Given the description of an element on the screen output the (x, y) to click on. 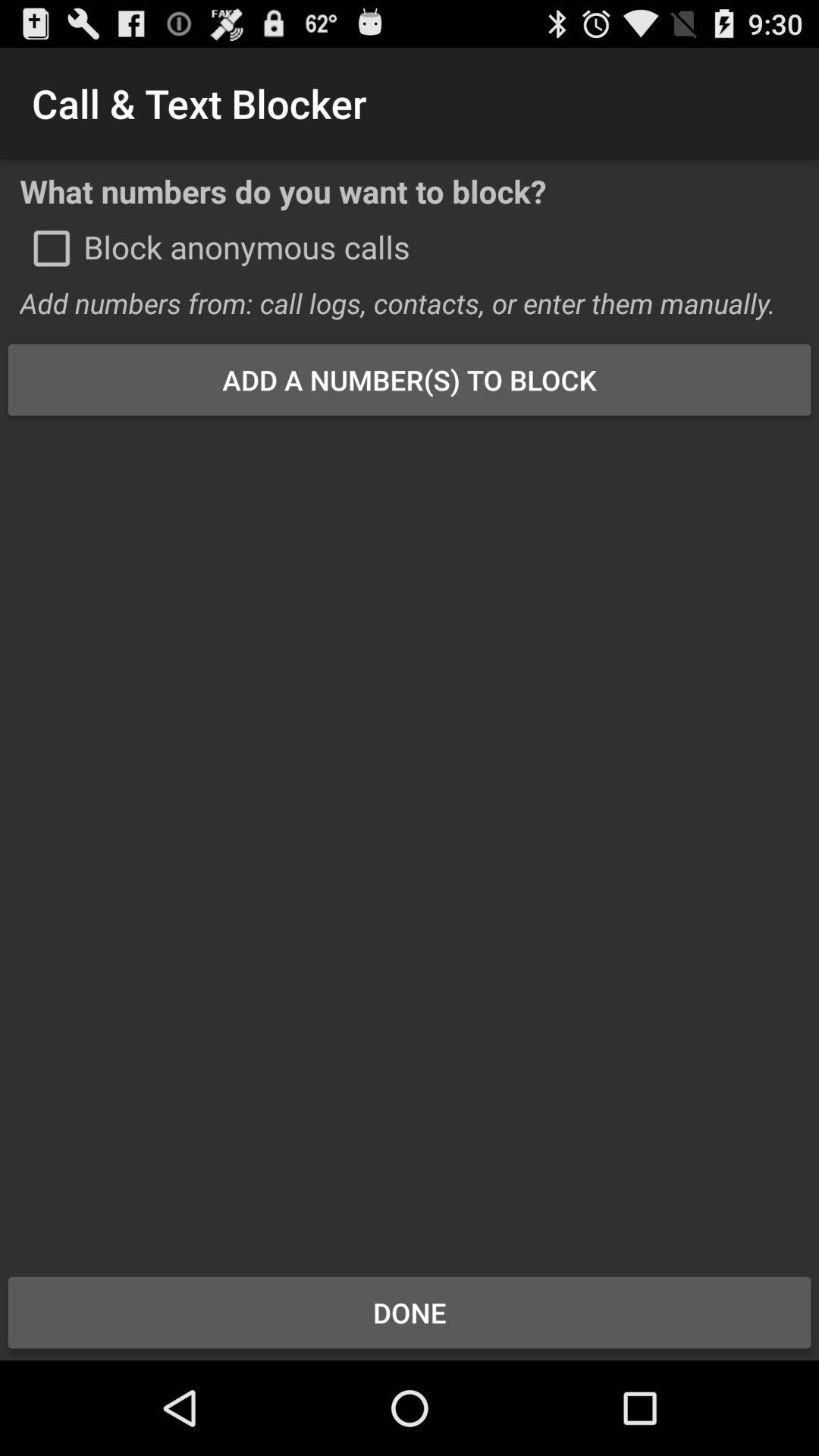
click icon next to the block anonymous calls icon (51, 248)
